Given the description of an element on the screen output the (x, y) to click on. 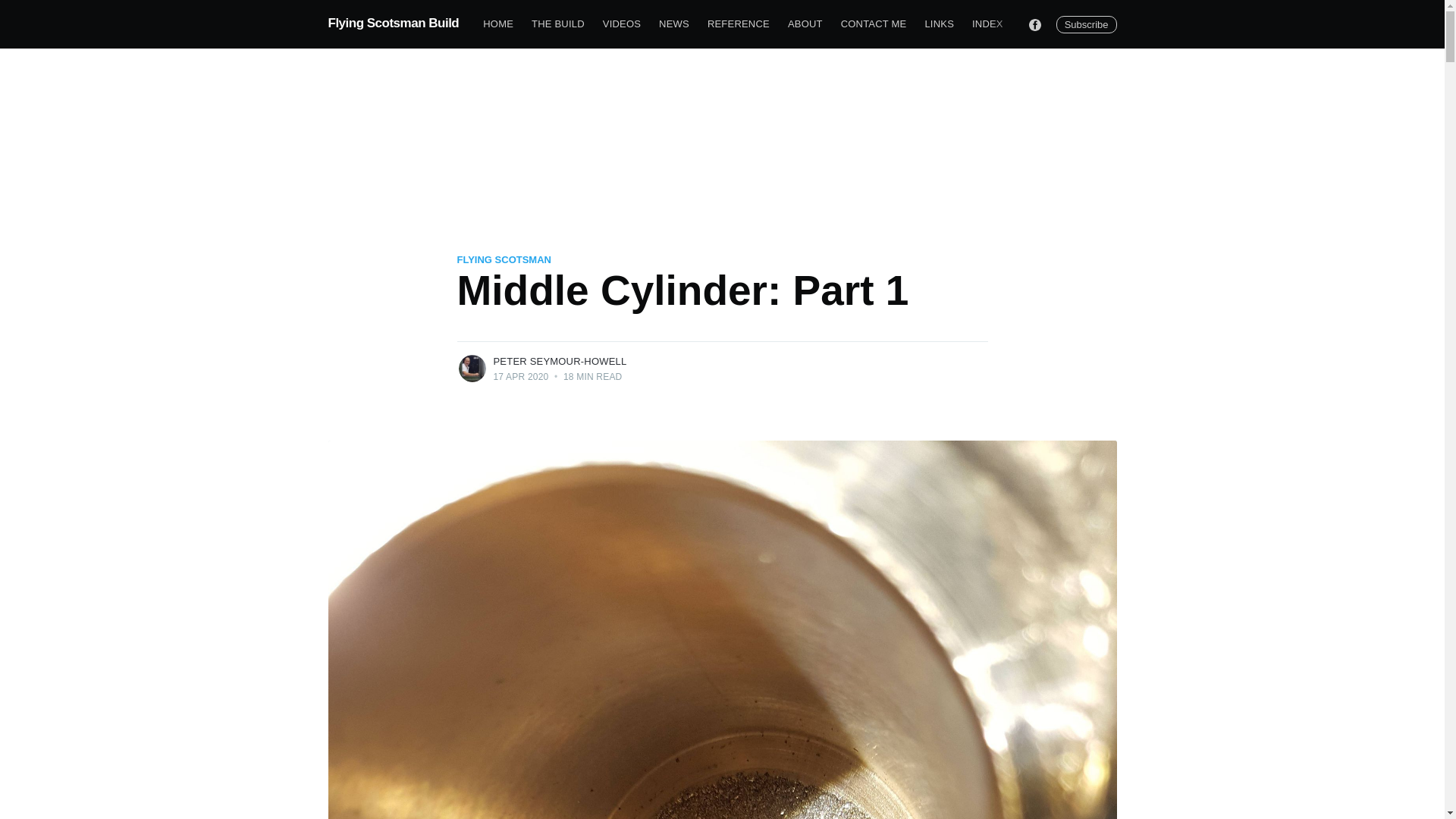
Subscribe (1086, 23)
LINKS (938, 24)
PETER SEYMOUR-HOWELL (559, 360)
NEWS (673, 24)
HOME (498, 24)
REFERENCE (738, 24)
ABOUT (804, 24)
INDEX (986, 24)
THE BUILD (558, 24)
FLYING SCOTSMAN (503, 259)
